Given the description of an element on the screen output the (x, y) to click on. 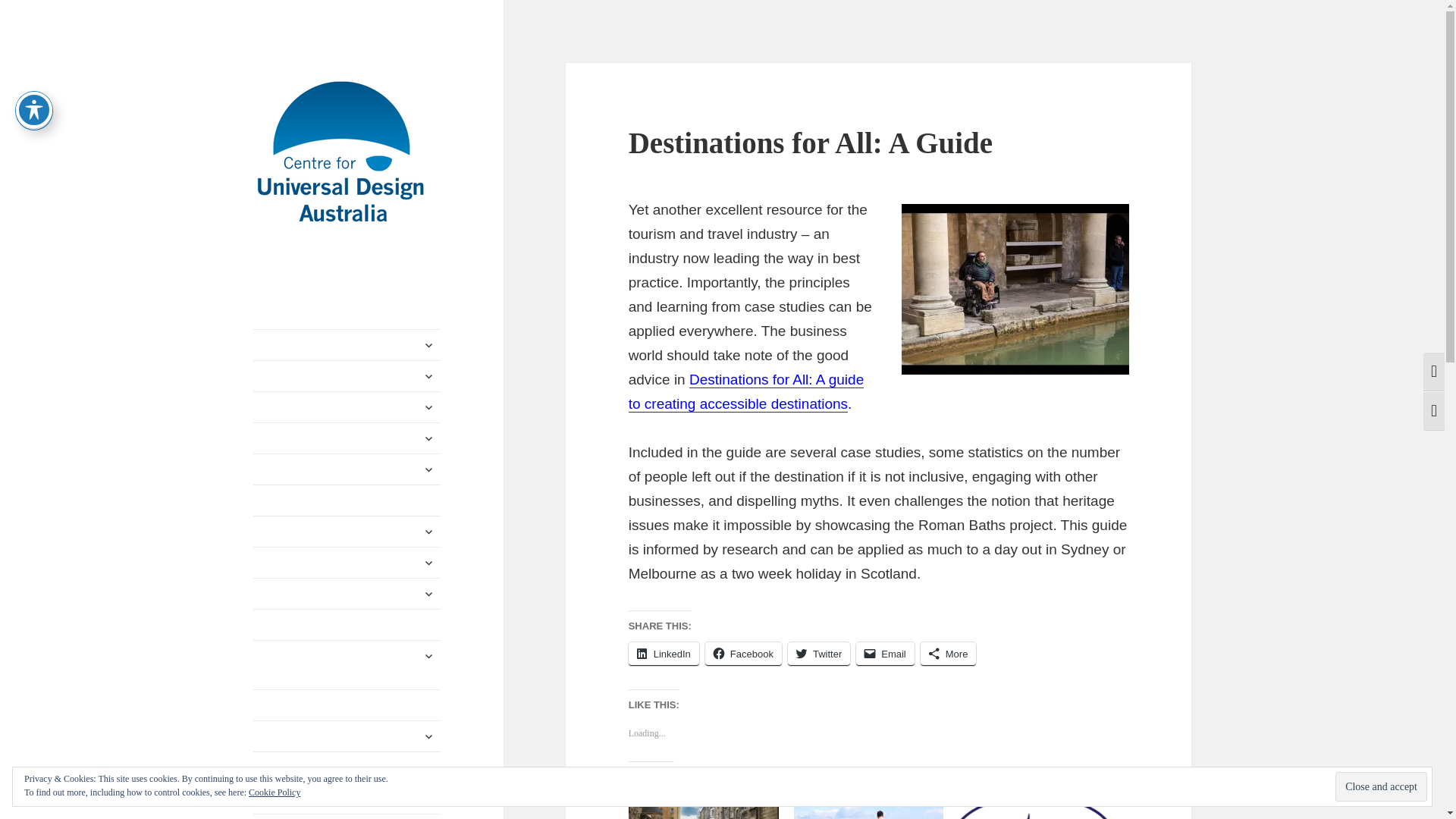
Close and accept (1380, 786)
visits4u Inclusive Tourism (1033, 806)
ICT and Universal Design (347, 469)
Home (347, 345)
Travel and Tourism (347, 531)
Inclusive Tourism Guidebooks (868, 806)
Transportation (347, 500)
expand child menu (428, 531)
expand child menu (428, 469)
expand child menu (428, 344)
England and Scotland Guidebooks for the accessible way (703, 806)
Built Environment (347, 376)
expand child menu (428, 437)
Industrial design (347, 407)
expand child menu (428, 375)
